Given the description of an element on the screen output the (x, y) to click on. 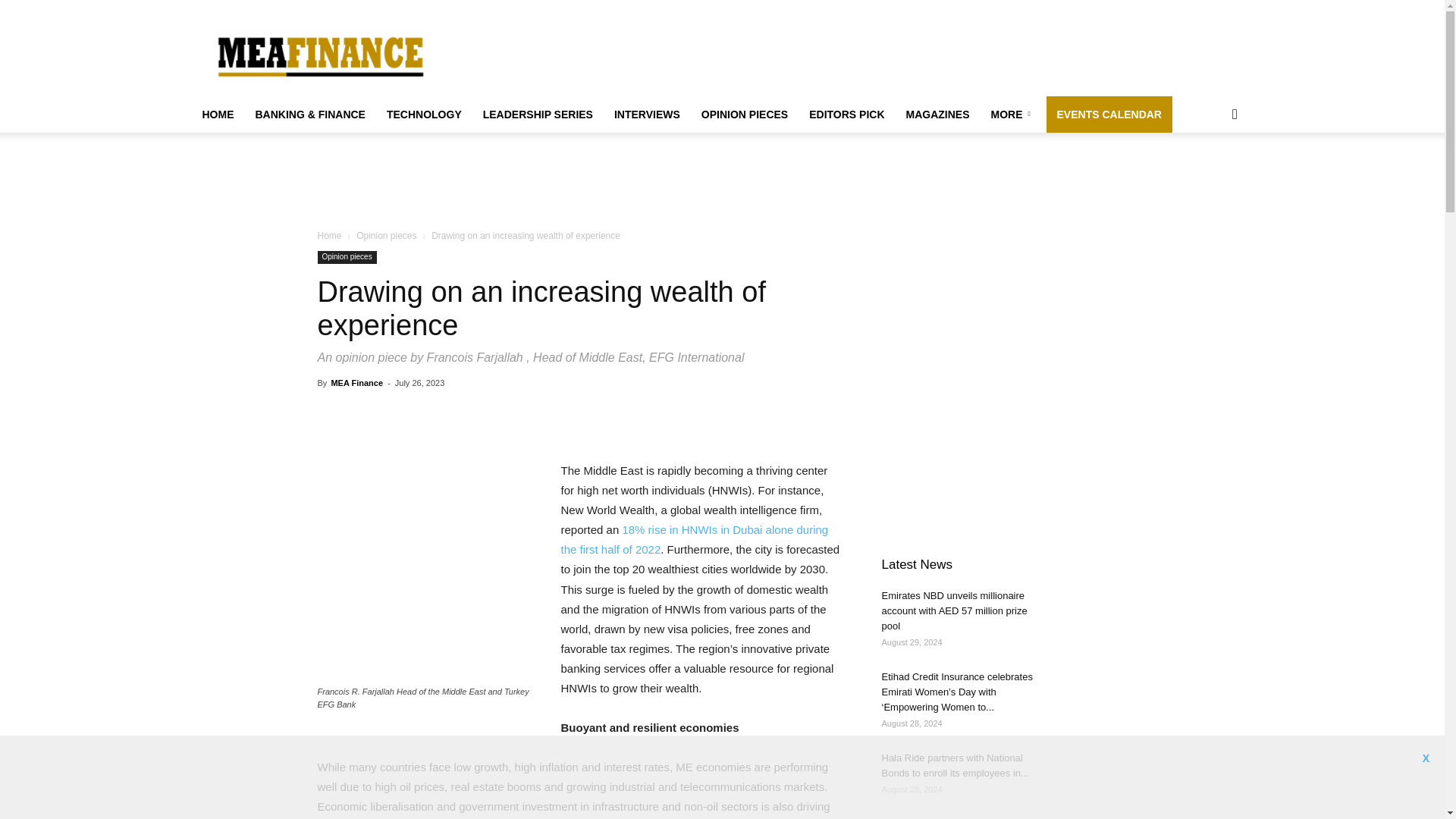
View all posts in Opinion pieces (386, 235)
TECHNOLOGY (423, 114)
HOME (217, 114)
3rd party ad content (816, 55)
LEADERSHIP SERIES (537, 114)
3rd party ad content (722, 178)
